Given the description of an element on the screen output the (x, y) to click on. 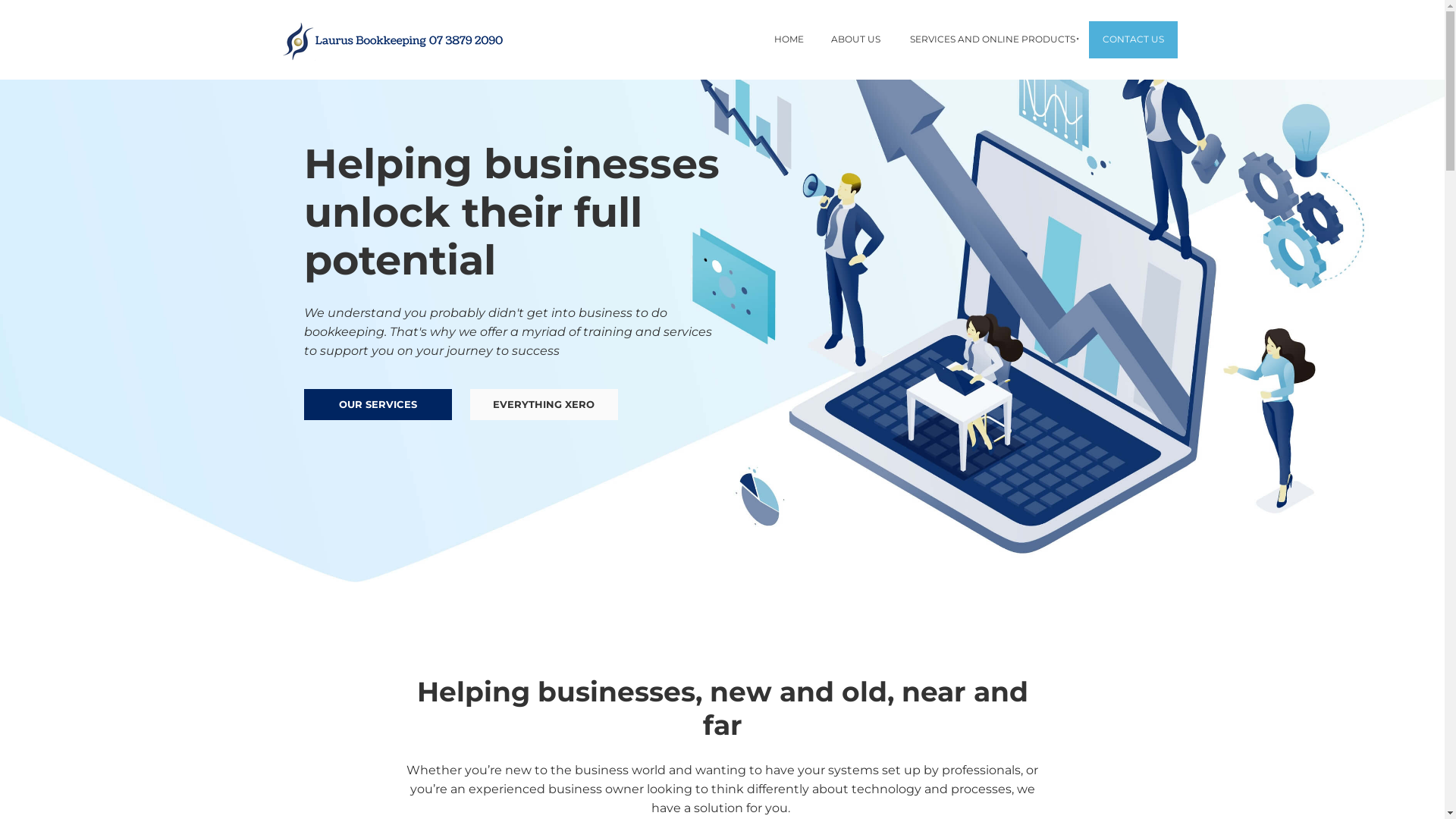
CONTACT US Element type: text (1132, 39)
EVERYTHING XERO Element type: text (544, 404)
ABOUT US Element type: text (855, 39)
HOME Element type: text (787, 39)
SERVICES AND ONLINE PRODUCTS Element type: text (990, 39)
OUR SERVICES Element type: text (377, 404)
